Given the description of an element on the screen output the (x, y) to click on. 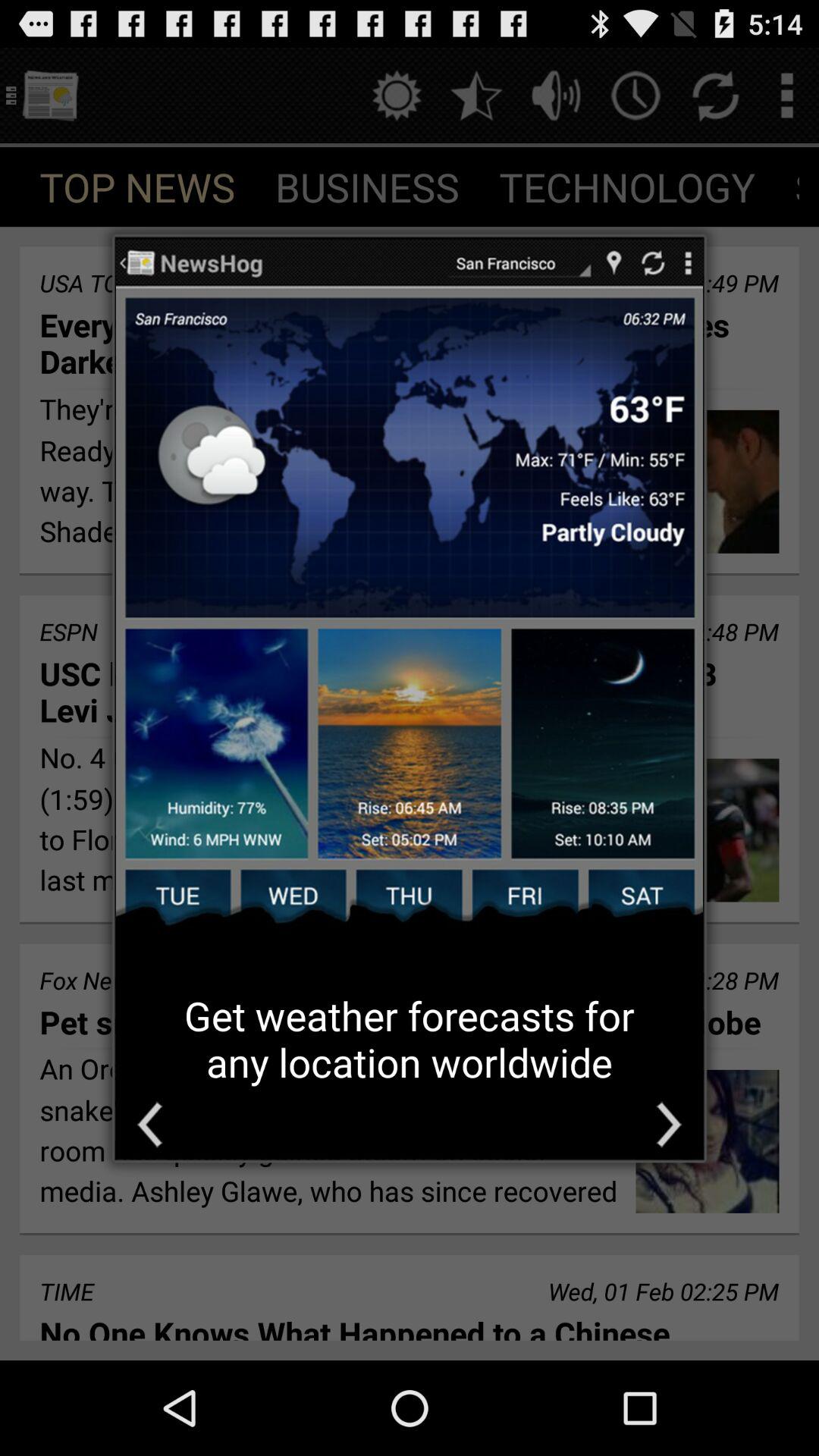
go to next image (668, 1124)
